Given the description of an element on the screen output the (x, y) to click on. 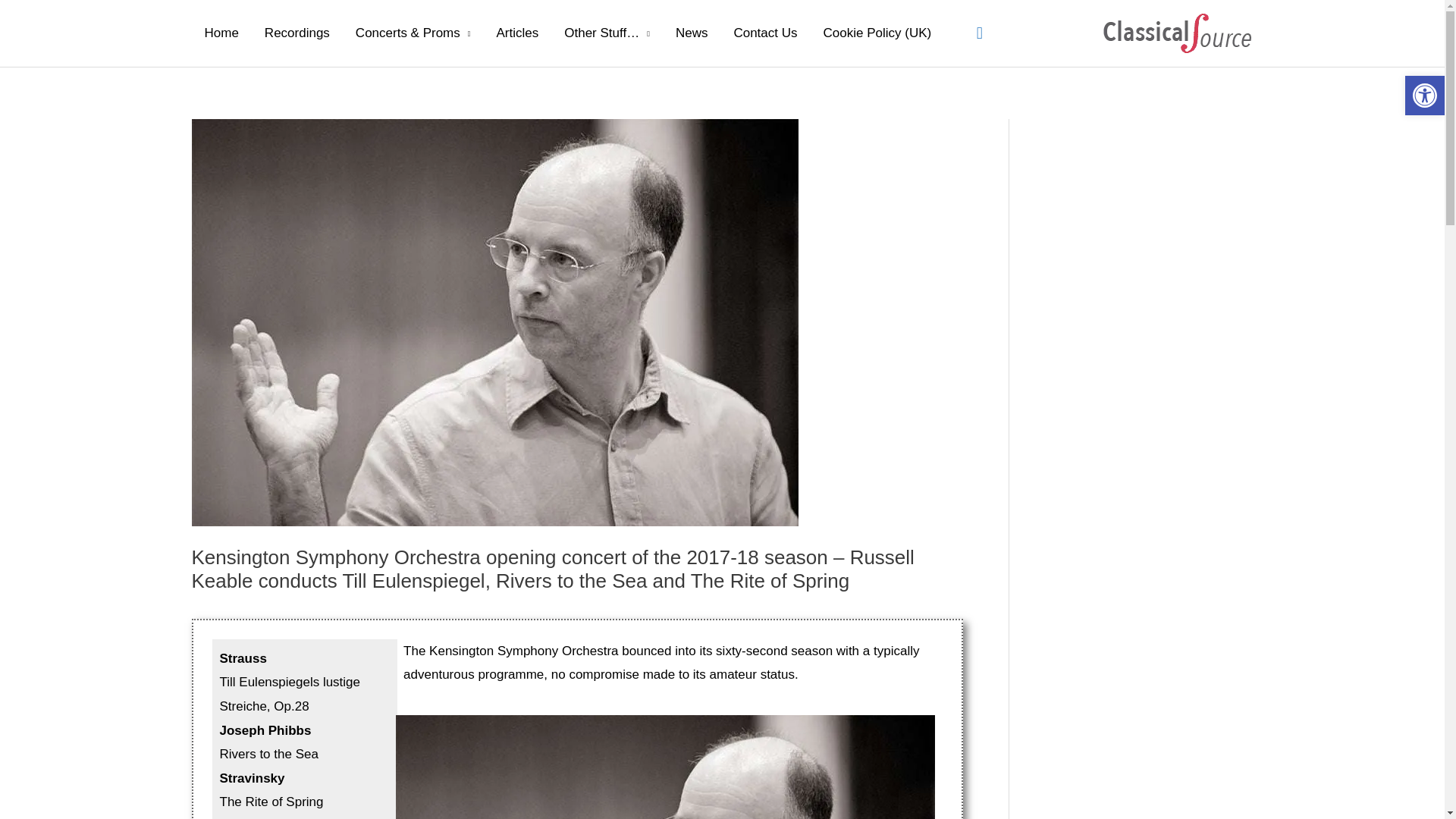
Russell KeablePhotograph: Sim Canetty-Clarke, 2008 (665, 766)
Accessibility Tools (1424, 95)
Home (220, 33)
Recordings (296, 33)
Articles (517, 33)
